Given the description of an element on the screen output the (x, y) to click on. 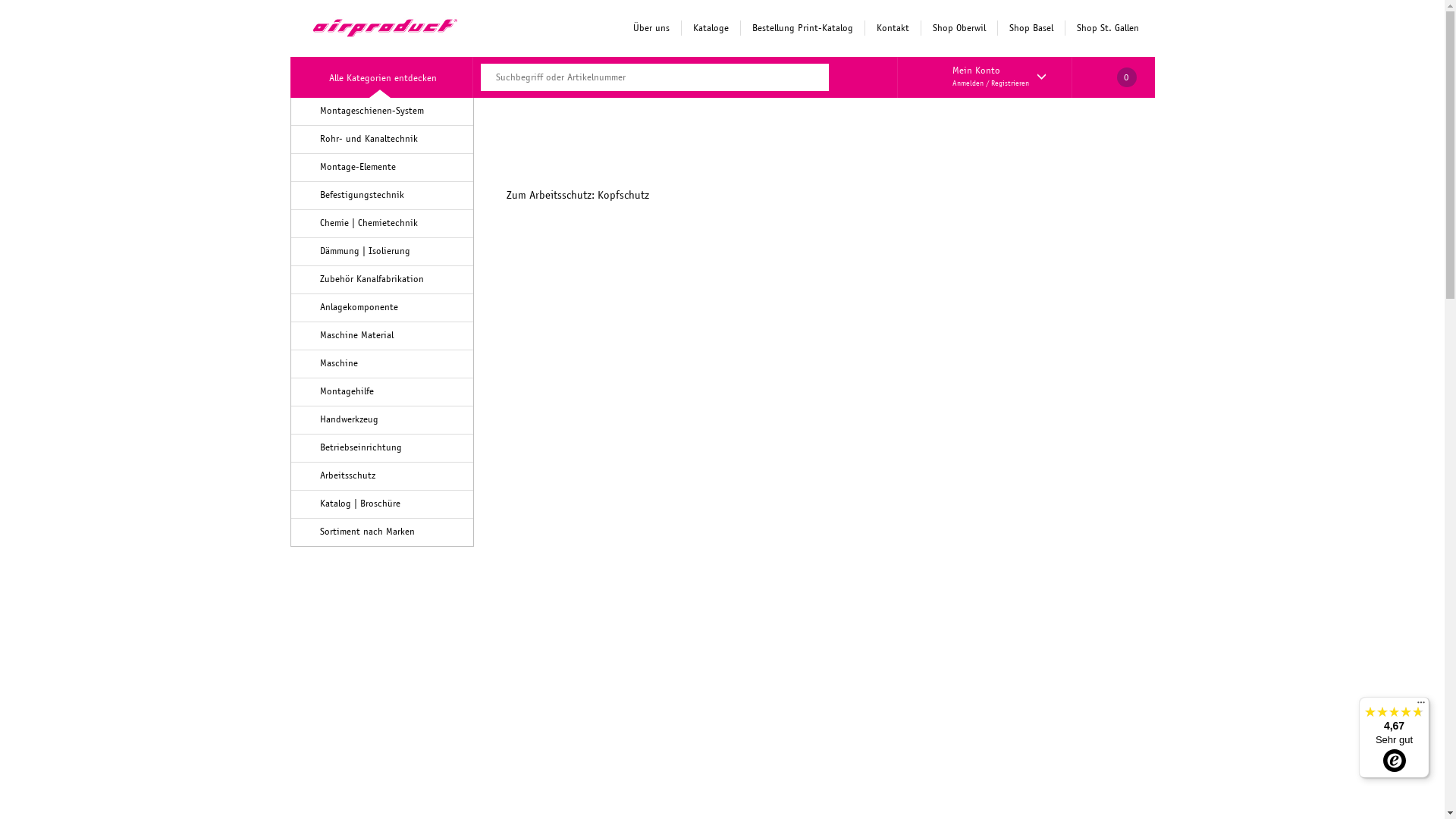
Befestigungstechnik Element type: text (362, 194)
Montagehilfe Element type: text (346, 390)
Shop Basel Element type: text (1029, 27)
Chemie | Chemietechnik Element type: text (368, 222)
Sortiment nach Marken Element type: text (367, 531)
Shop St. Gallen Element type: text (1107, 27)
Mein Konto Element type: text (976, 70)
Anlagekomponente Element type: text (359, 306)
Registrieren Element type: text (1010, 82)
Maschine Element type: text (338, 362)
Montageschienen-System Element type: text (371, 110)
Zum Arbeitsschutz: Kopfschutz Element type: text (577, 194)
Maschine Material Element type: text (356, 334)
Anmelden Element type: text (967, 82)
Rohr- und Kanaltechnik Element type: text (368, 138)
Kontakt Element type: text (892, 27)
Shop Oberwil Element type: text (958, 27)
Bestellung Print-Katalog Element type: text (802, 27)
0 Element type: text (1113, 76)
Montage-Elemente Element type: text (357, 166)
Kataloge Element type: text (710, 27)
Betriebseinrichtung Element type: text (360, 447)
Arbeitsschutz Element type: text (347, 475)
Handwerkzeug Element type: text (349, 418)
    Zum Arbeitsschutz: Kopfschutz Element type: text (722, 305)
